Given the description of an element on the screen output the (x, y) to click on. 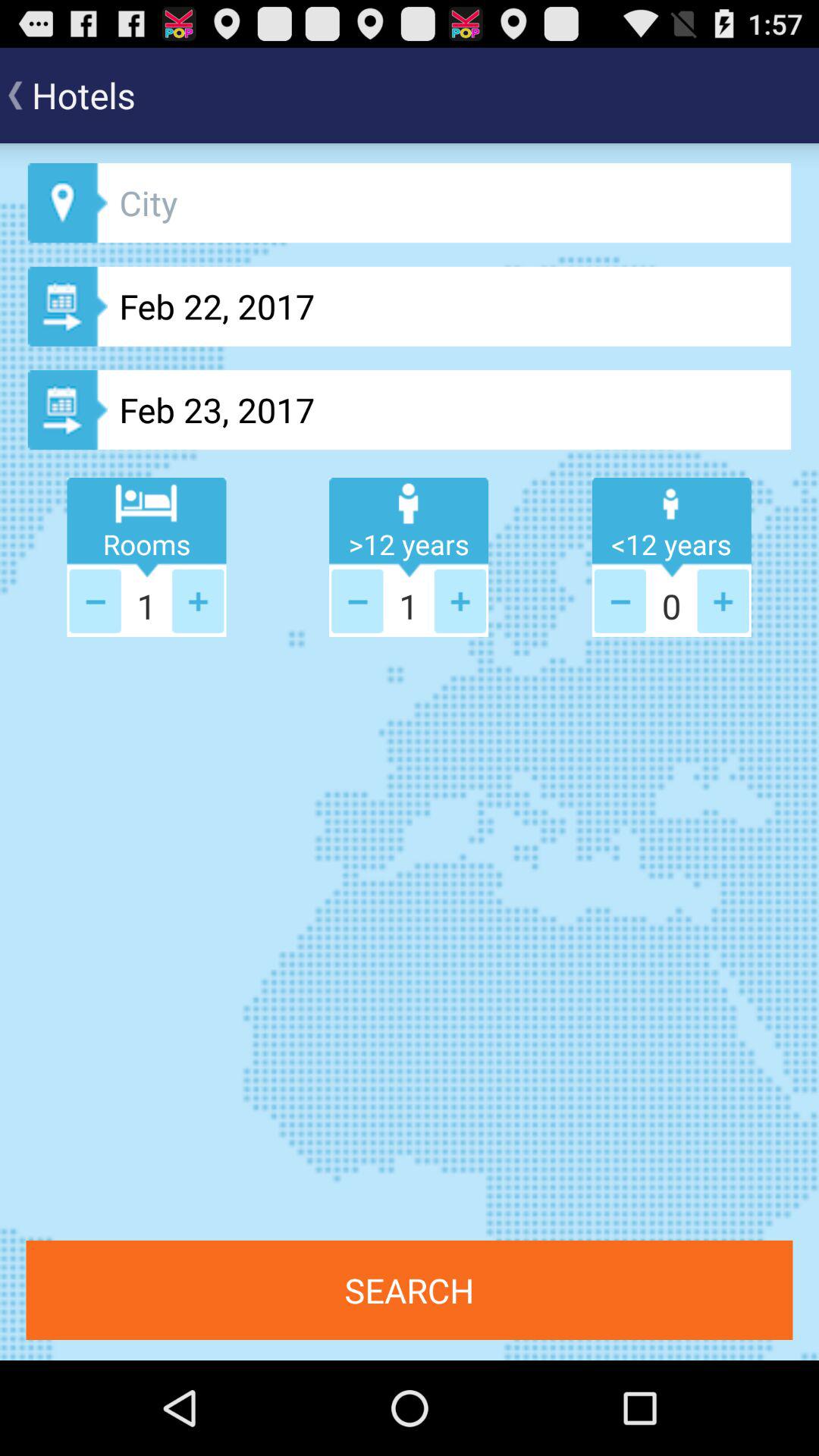
derement button (95, 601)
